Given the description of an element on the screen output the (x, y) to click on. 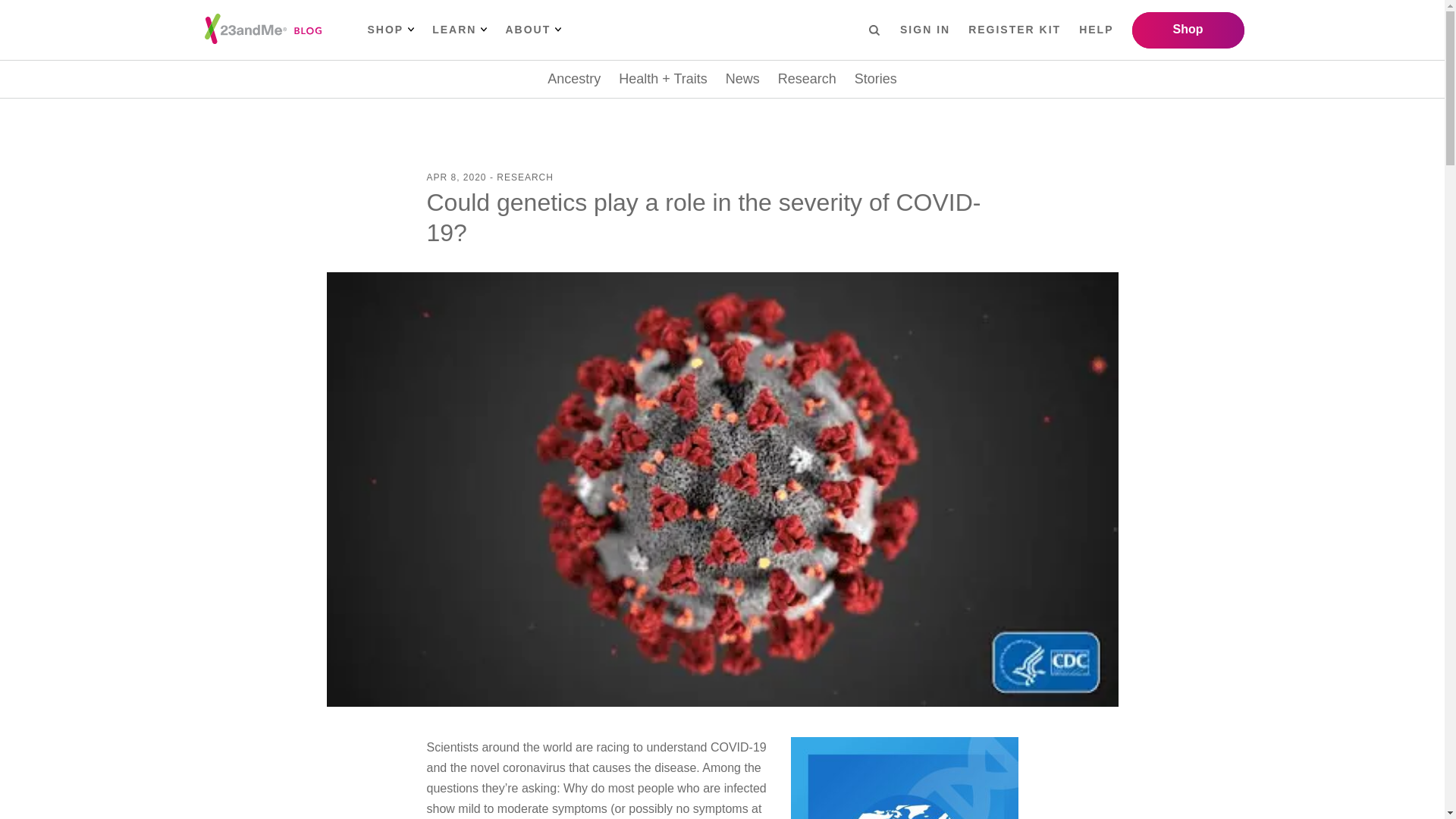
Stories (875, 78)
SIGN IN (924, 29)
Research (806, 78)
Skip To Main Content (24, 11)
Ancestry (573, 78)
HELP (1095, 29)
ABOUT (532, 29)
SHOP (389, 29)
News (742, 78)
Shop (1187, 30)
